Given the description of an element on the screen output the (x, y) to click on. 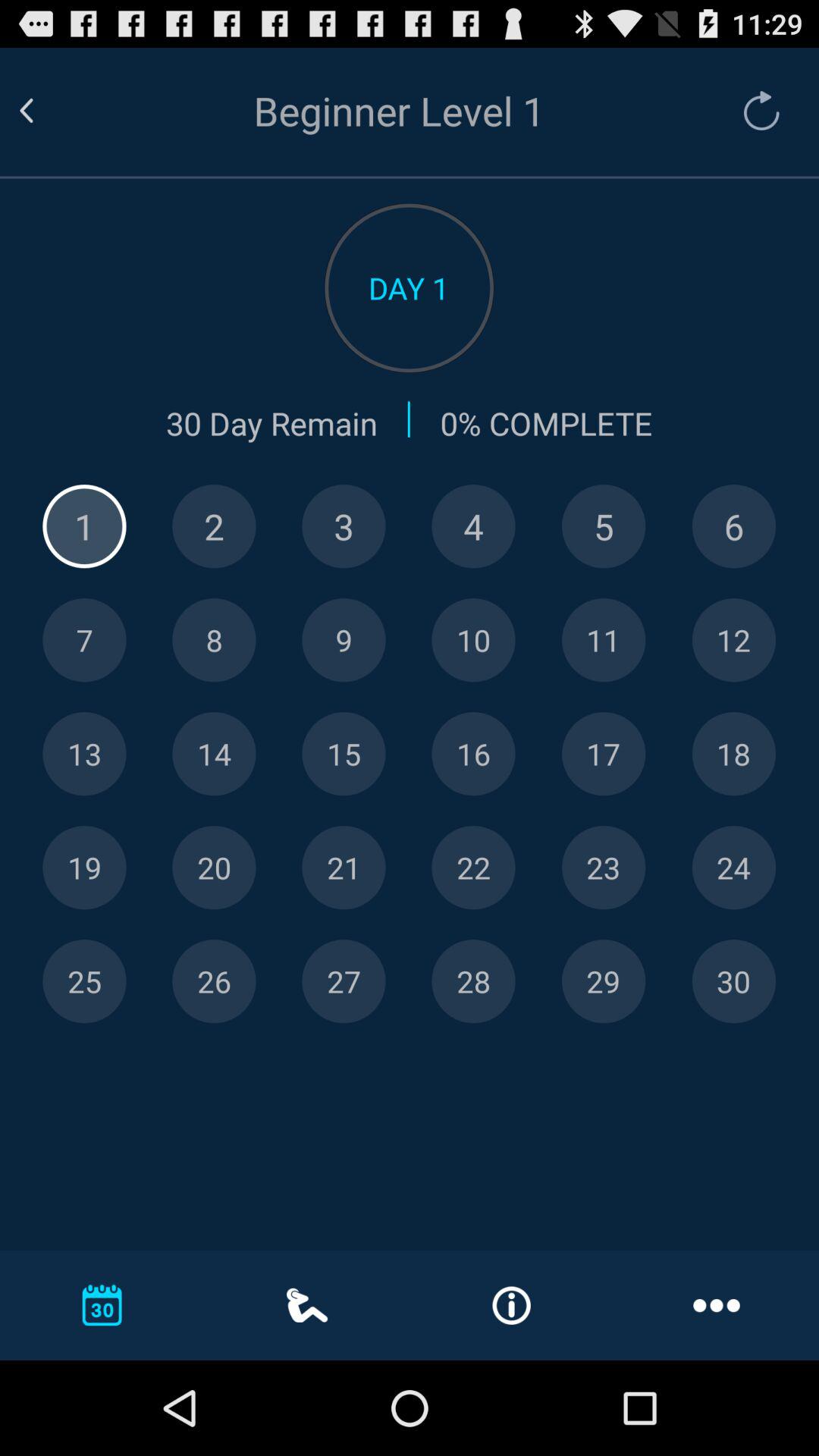
select number 5 (603, 526)
